Given the description of an element on the screen output the (x, y) to click on. 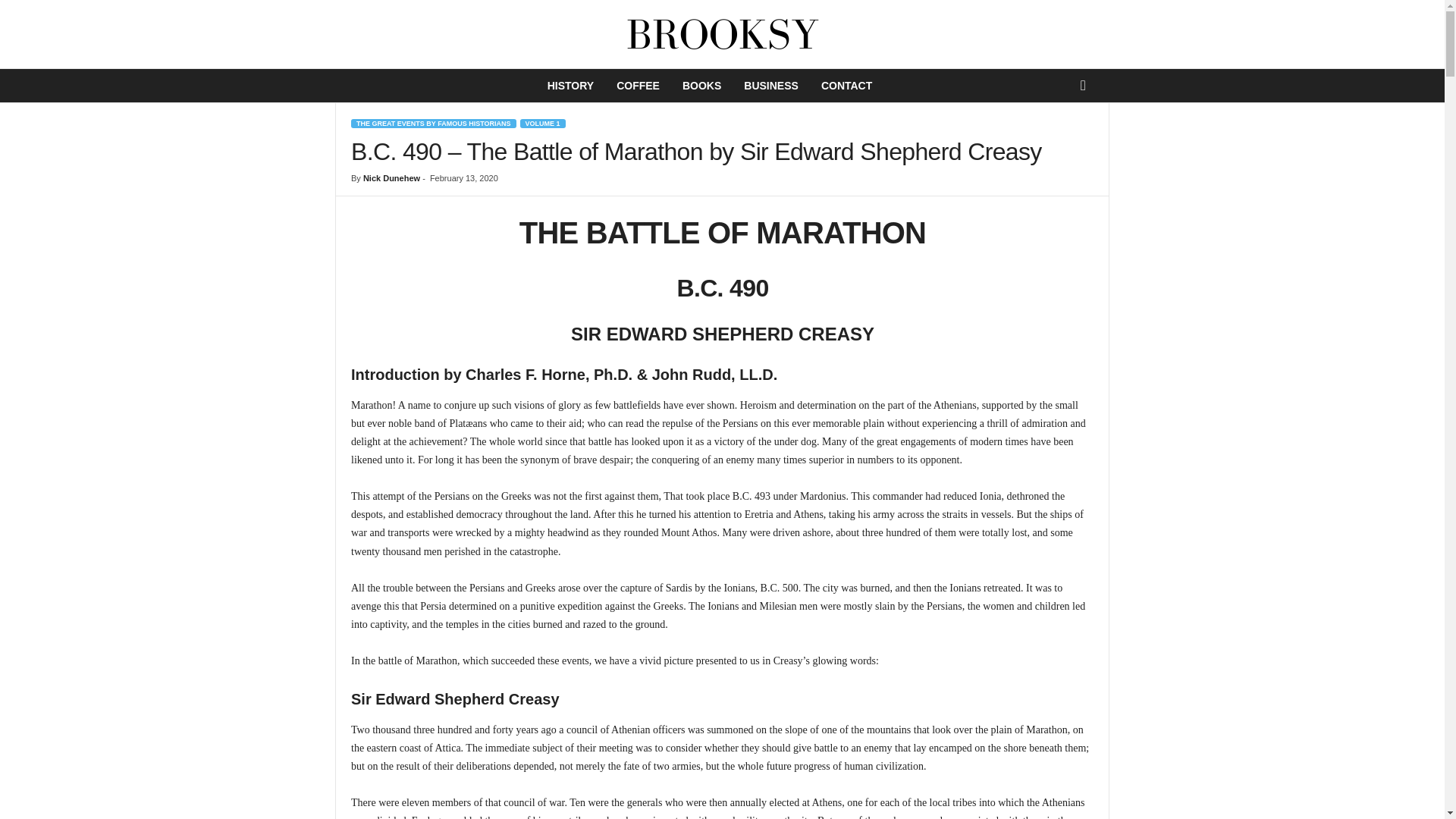
BOOKS (701, 85)
COFFEE (638, 85)
VOLUME 1 (542, 122)
Nick Dunehew (391, 177)
HISTORY (570, 85)
CONTACT (846, 85)
THE GREAT EVENTS BY FAMOUS HISTORIANS (433, 122)
BUSINESS (770, 85)
